Given the description of an element on the screen output the (x, y) to click on. 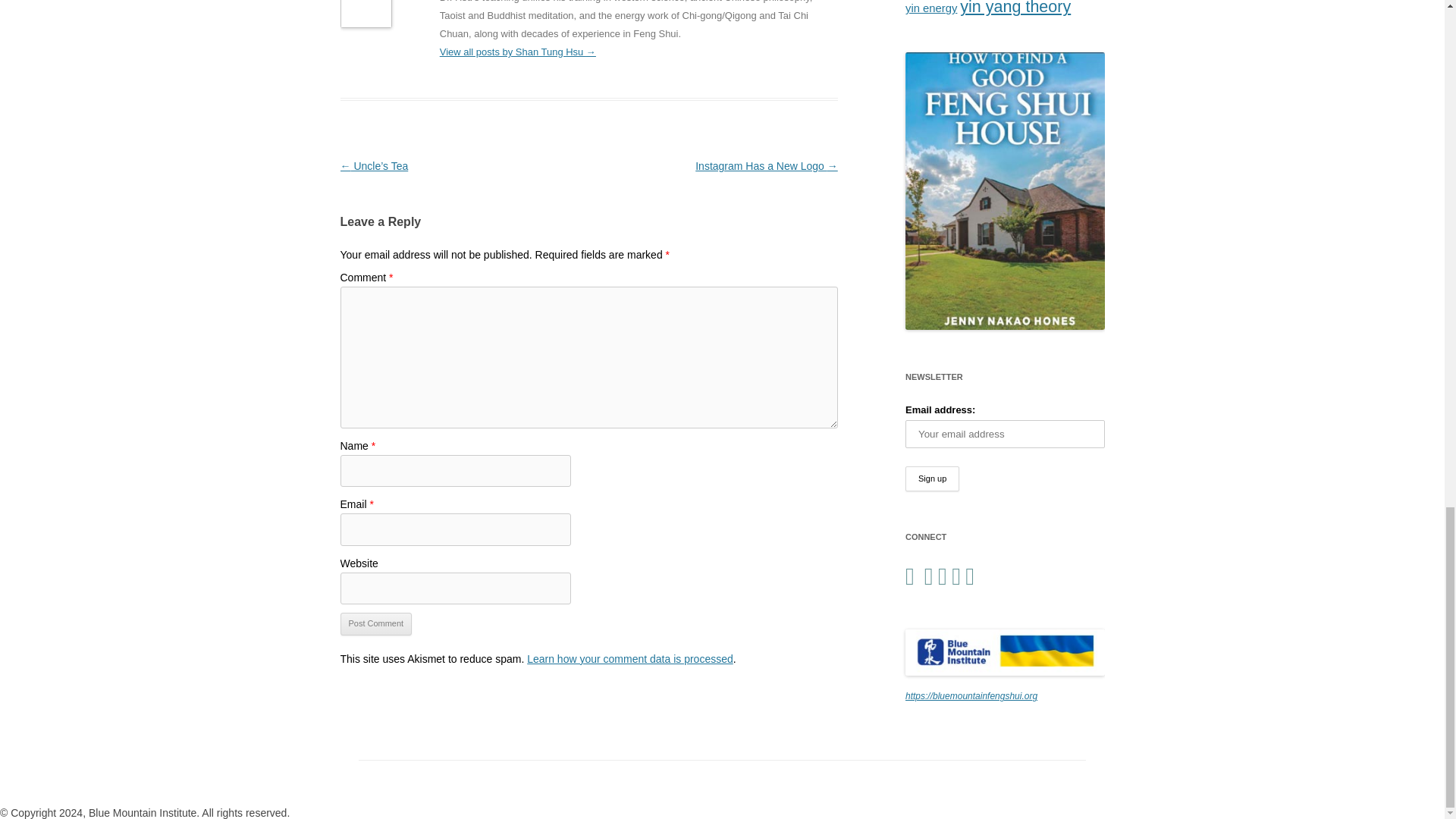
Post Comment (375, 623)
Post Comment (375, 623)
Learn how your comment data is processed (630, 658)
Sign up (932, 479)
